Given the description of an element on the screen output the (x, y) to click on. 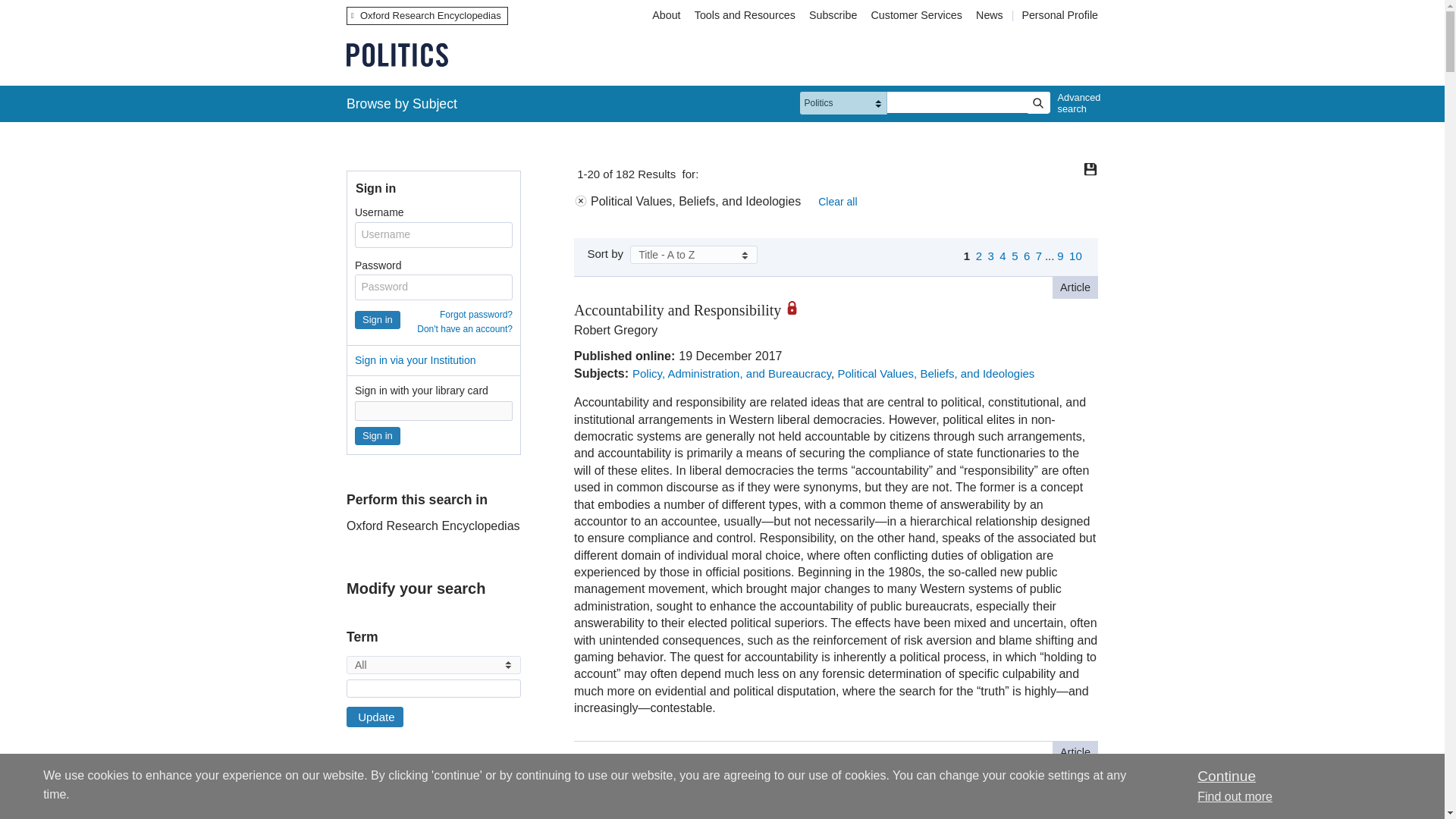
Find out more (1234, 796)
Subscribe (832, 15)
Personal Profile (1059, 15)
Search (1037, 102)
Customer Services (917, 15)
Sign in (377, 320)
Search (1037, 102)
About (665, 15)
 Update (374, 716)
Advanced search (1075, 103)
Search (1037, 102)
Jump to Content (55, 11)
Oxford Research Encyclopedia of Politics (397, 54)
Browse by Subject (401, 103)
Subject Reference (351, 809)
